Given the description of an element on the screen output the (x, y) to click on. 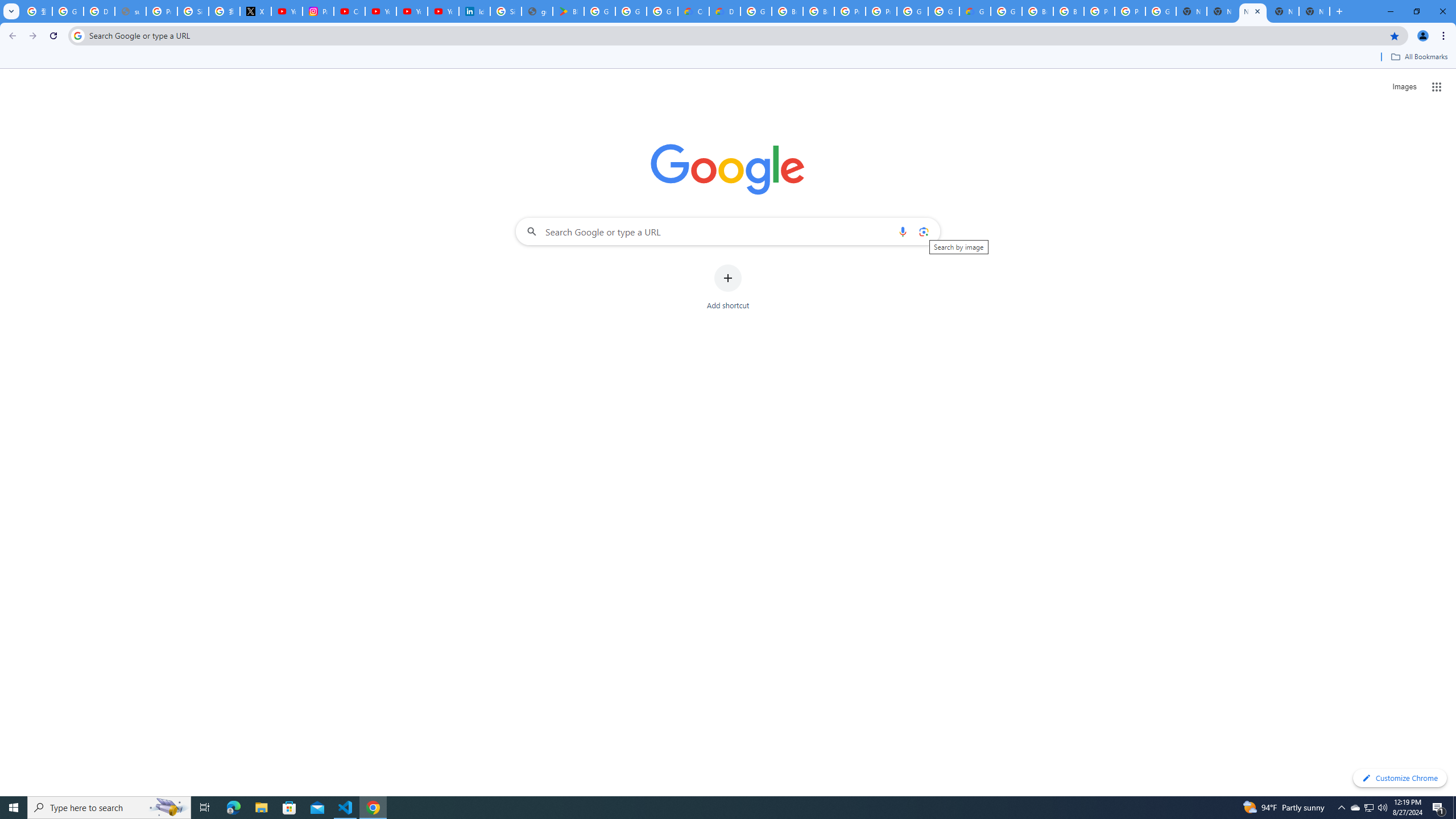
Google Workspace - Specific Terms (662, 11)
YouTube Content Monetization Policies - How YouTube Works (286, 11)
Customer Care | Google Cloud (693, 11)
Google Workspace - Specific Terms (631, 11)
